Given the description of an element on the screen output the (x, y) to click on. 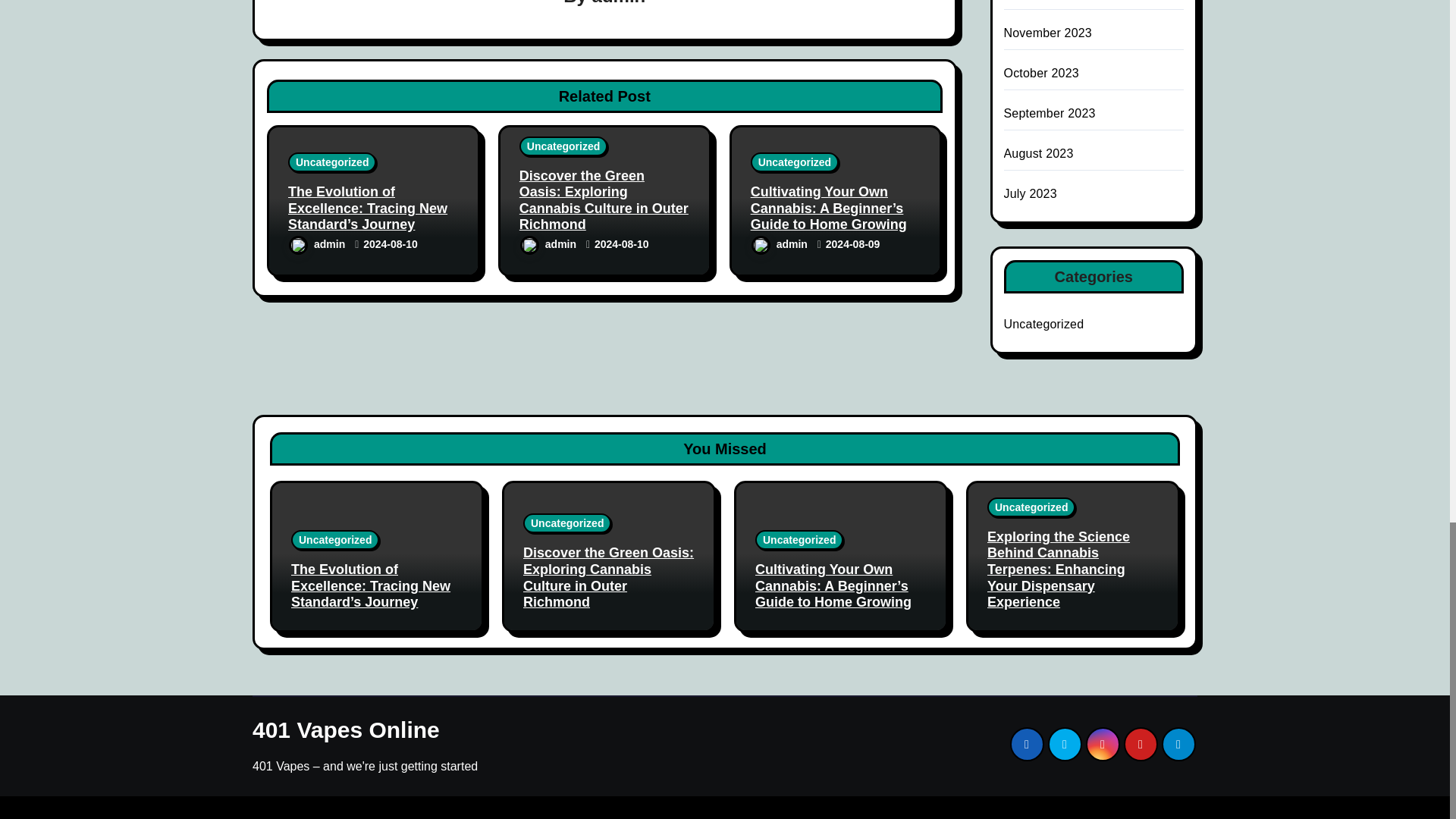
Uncategorized (563, 146)
admin (317, 244)
admin (619, 2)
Uncategorized (331, 161)
2024-08-10 (389, 244)
